Given the description of an element on the screen output the (x, y) to click on. 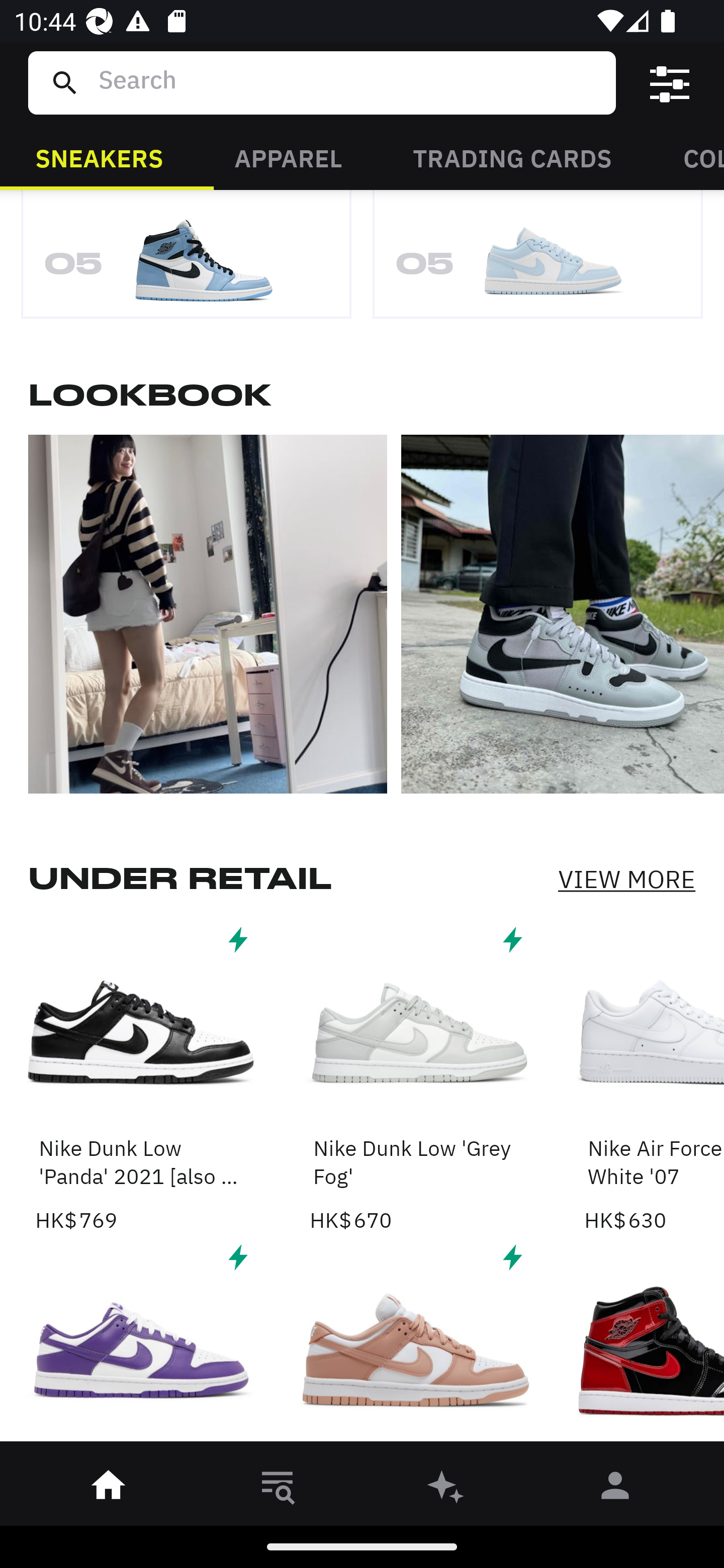
Search (349, 82)
 (669, 82)
SNEAKERS (99, 156)
APPAREL (287, 156)
TRADING CARDS (512, 156)
05 (186, 259)
05 (538, 259)
VIEW MORE (626, 879)
 Nike Dunk Low 'Grey Fog' HK$ 670 (414, 1077)
Nike Air Force 1 Low White '07 HK$ 630 (654, 1077)
 Nike Dunk Low 'Court Purple' (140, 1344)
 (W) Nike Dunk Low 'Rose Whisper' (414, 1344)
Jordan 1 High 'Patent Bred' (654, 1344)
󰋜 (108, 1488)
󱎸 (277, 1488)
󰫢 (446, 1488)
󰀄 (615, 1488)
